Given the description of an element on the screen output the (x, y) to click on. 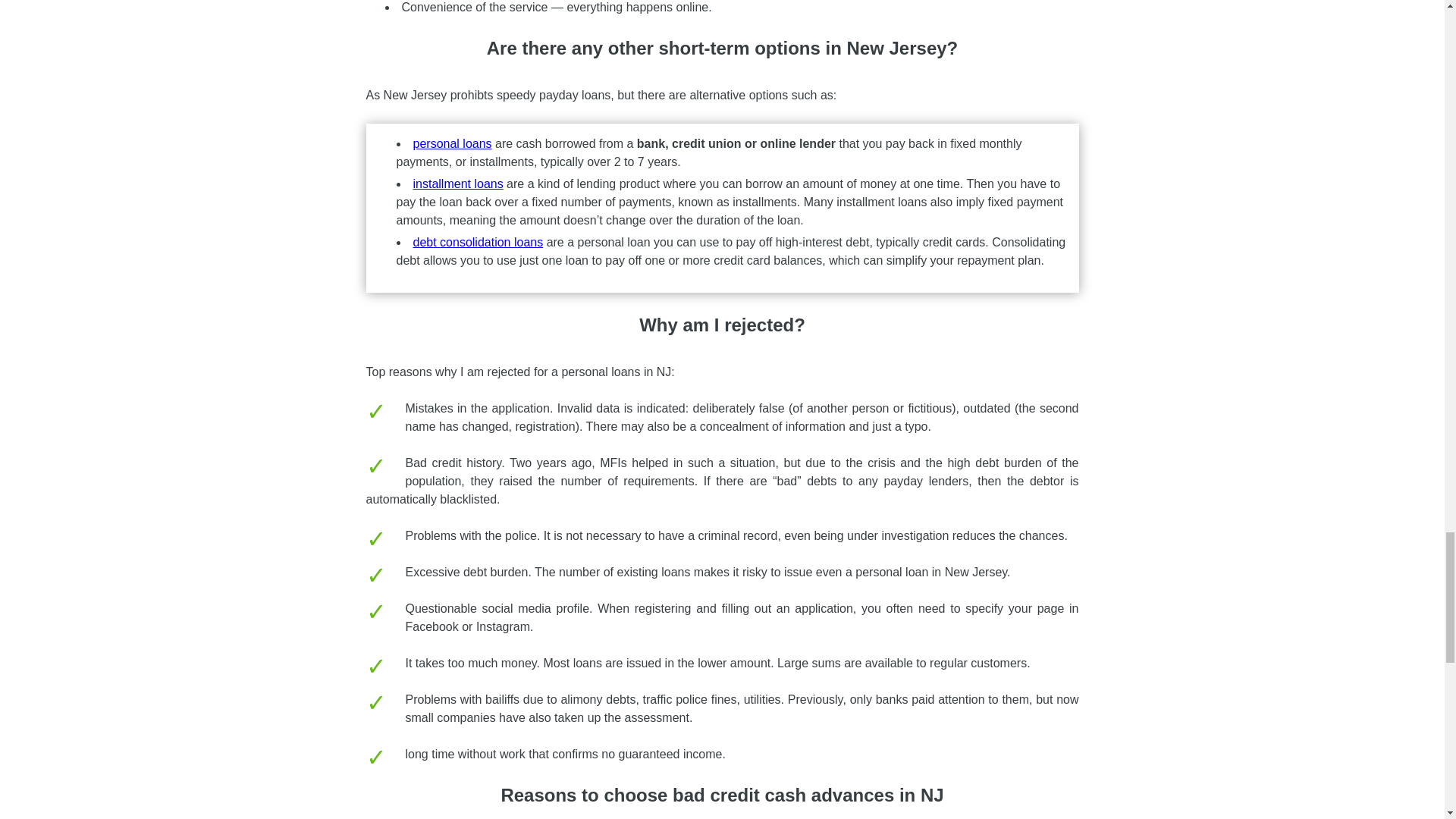
Installment loan (457, 183)
Debt consolidation loan (477, 241)
Personal loans (452, 143)
